Given the description of an element on the screen output the (x, y) to click on. 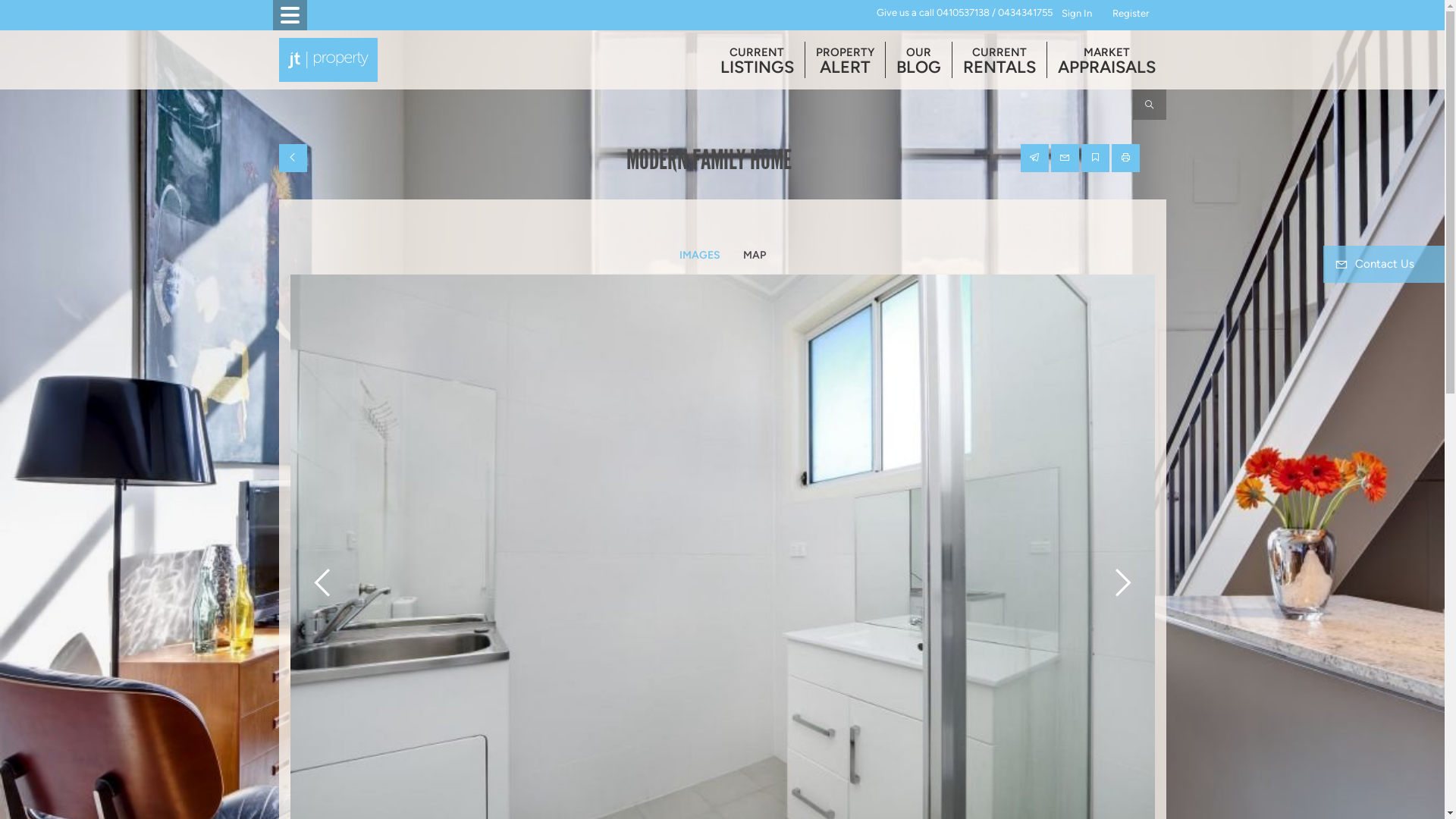
prev Element type: text (323, 576)
Email to Agent Element type: hover (1065, 158)
CURRENT
RENTALS Element type: text (999, 59)
OUR
BLOG Element type: text (918, 59)
? Element type: text (1155, 14)
PROPERTY
ALERT Element type: text (844, 59)
Contact Us Element type: text (1383, 263)
IMAGES Element type: text (699, 255)
Sign In Element type: text (1076, 13)
Email to Friend Element type: hover (1034, 158)
Give us a call 0410537138 / 0434341755 Element type: text (964, 13)
Login Element type: text (1122, 14)
MAP Element type: text (753, 255)
next Element type: text (1120, 576)
Register Element type: text (1130, 13)
MARKET
APPRAISALS Element type: text (1105, 59)
CURRENT
LISTINGS Element type: text (756, 59)
